Given the description of an element on the screen output the (x, y) to click on. 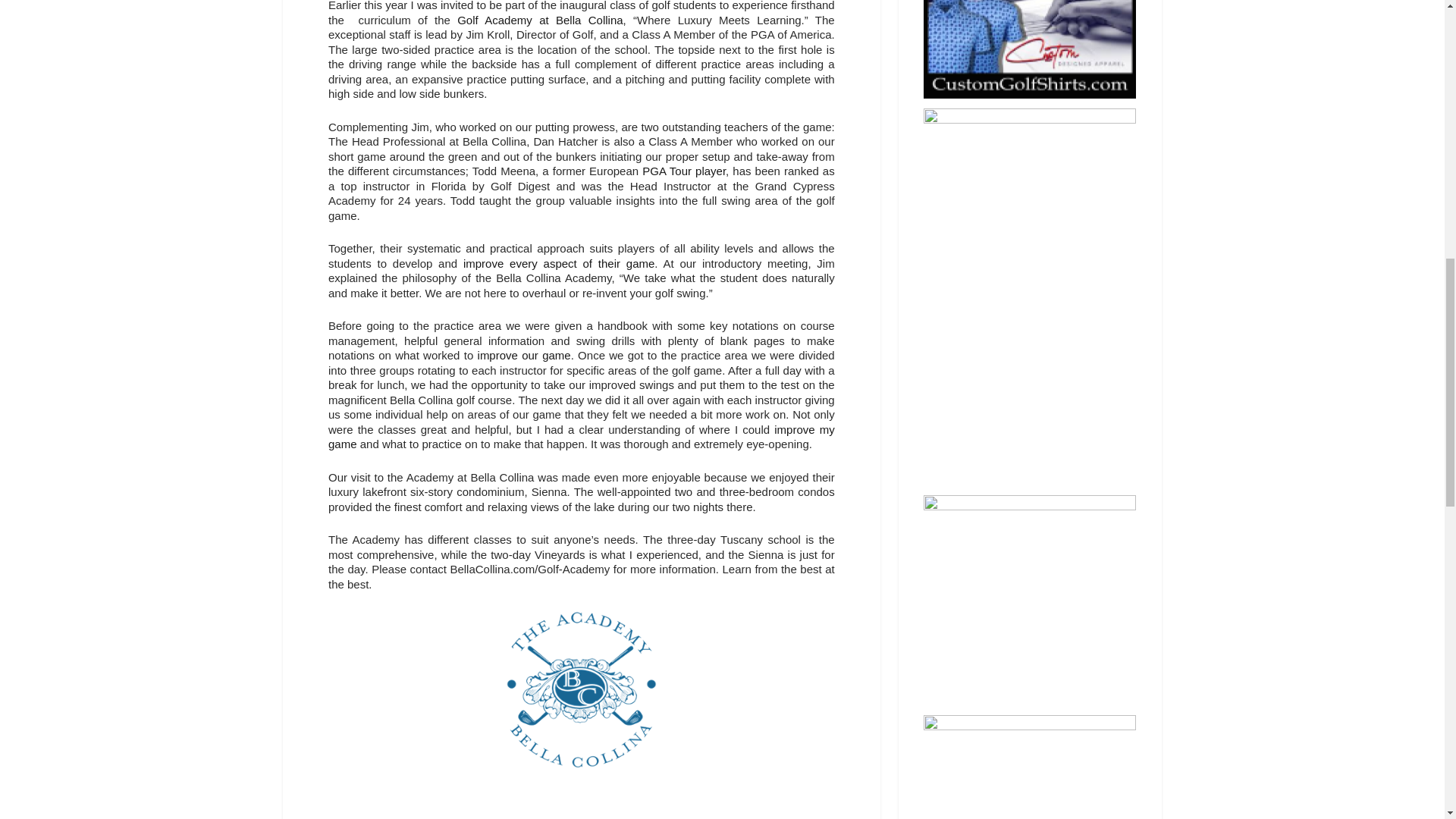
PGA Tour player (683, 170)
Golf Academy at Bella Collina (540, 19)
improve my game (581, 437)
improve every aspect of their game (558, 263)
improve our game (523, 354)
Golf Academy at Bella Collina (540, 19)
